Given the description of an element on the screen output the (x, y) to click on. 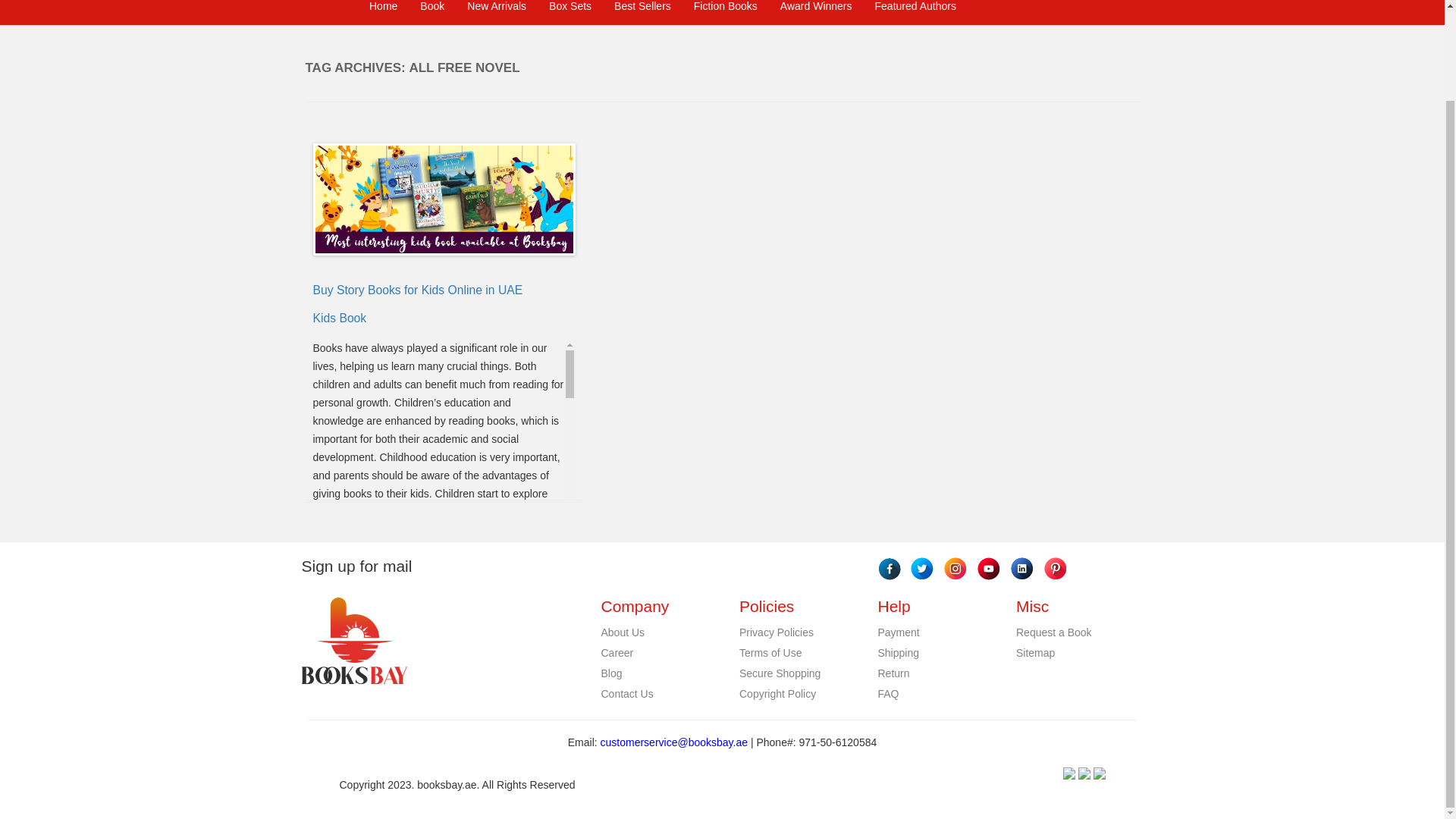
Kids Book (339, 318)
Best Online Bookstore in UAE (431, 797)
Book (432, 12)
New Arrivals (496, 12)
Best Sellers (642, 12)
Buy Story Books for Kids Online in UAE (417, 289)
Home (383, 12)
Award Winners (815, 12)
Box Sets (569, 12)
Fiction Books (725, 12)
Featured Authors (915, 12)
